Given the description of an element on the screen output the (x, y) to click on. 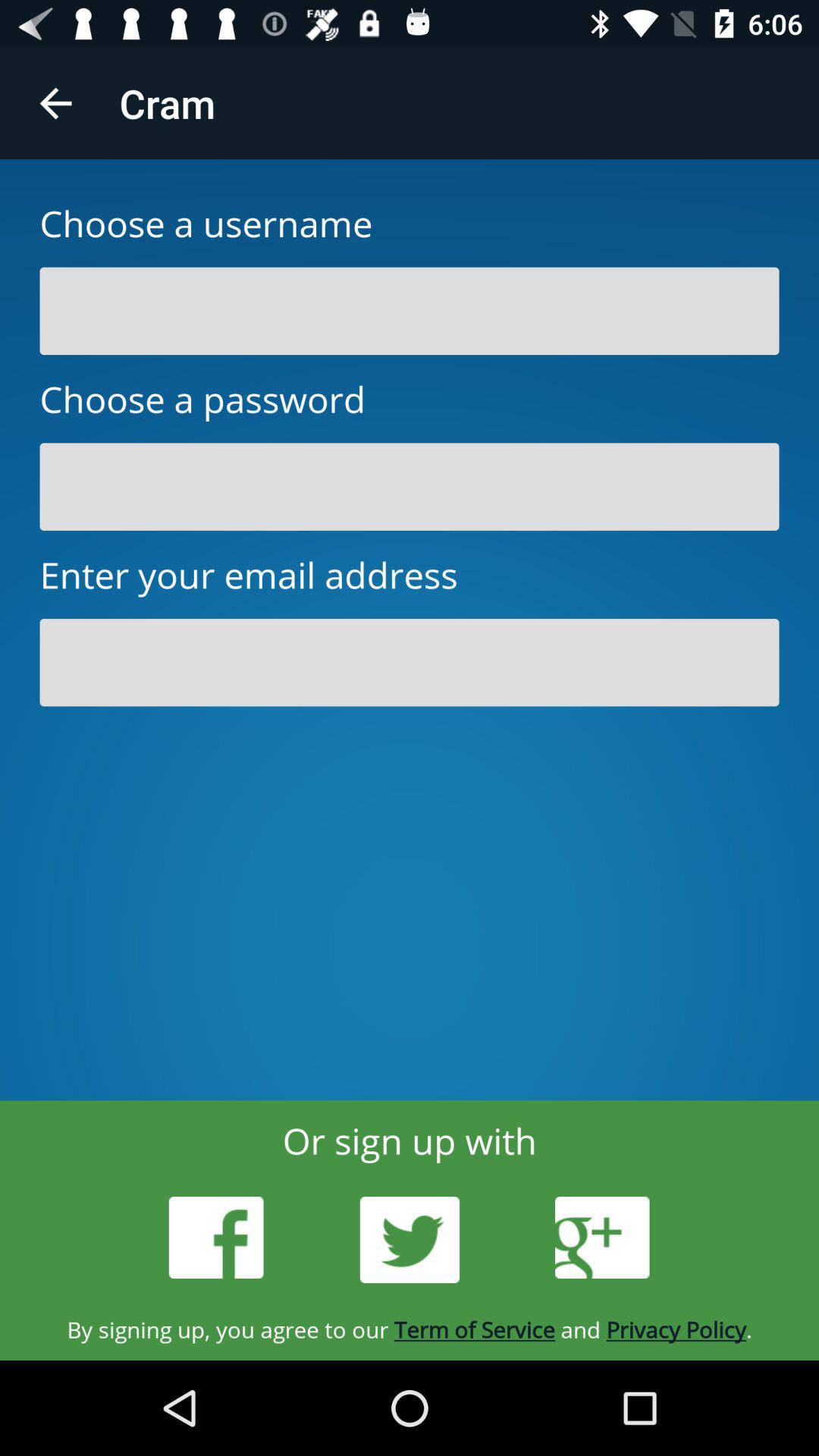
jump until the by signing up (409, 1329)
